Given the description of an element on the screen output the (x, y) to click on. 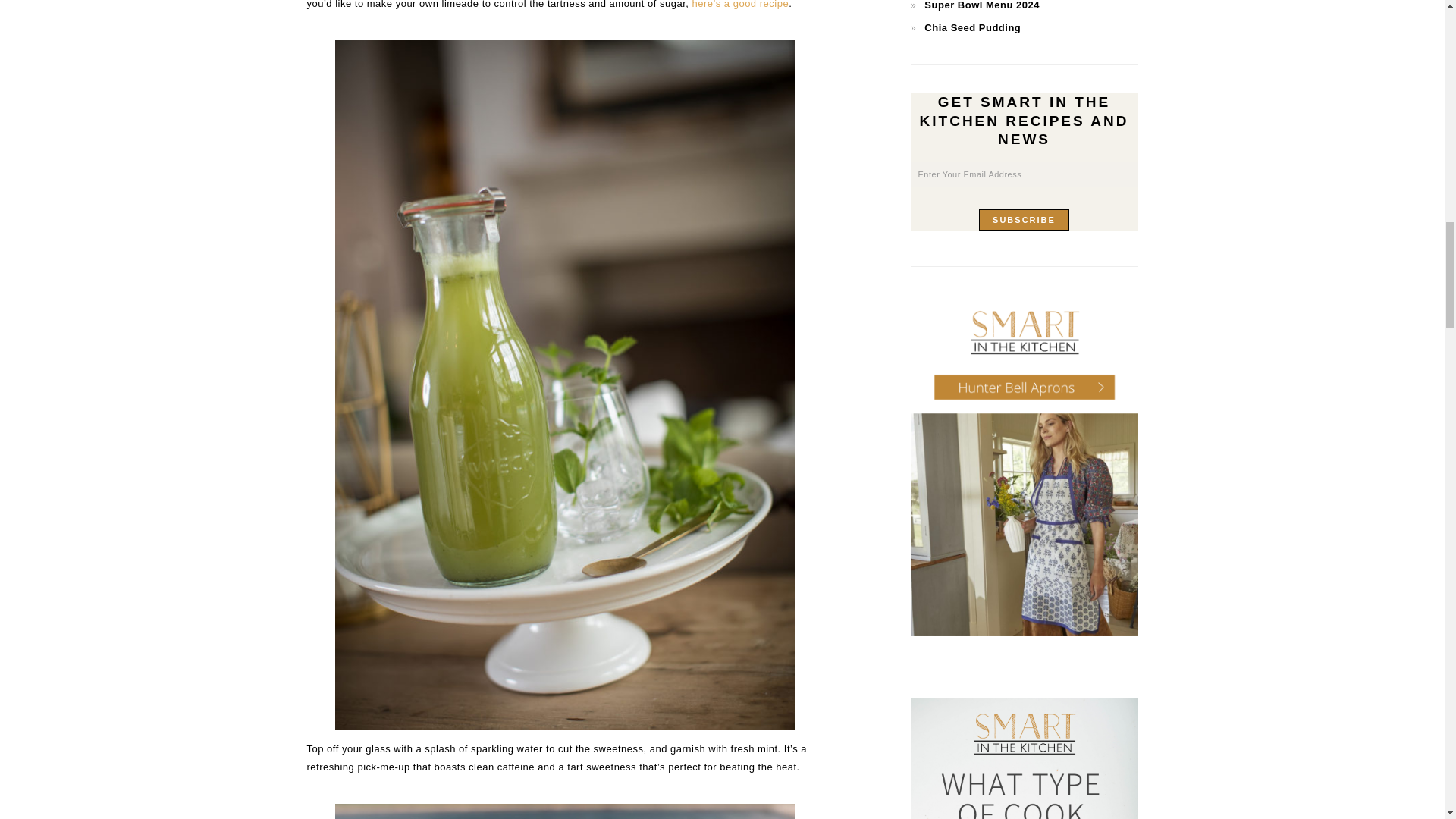
Enter Your Email Address (1023, 174)
Subscribe (1023, 219)
